Given the description of an element on the screen output the (x, y) to click on. 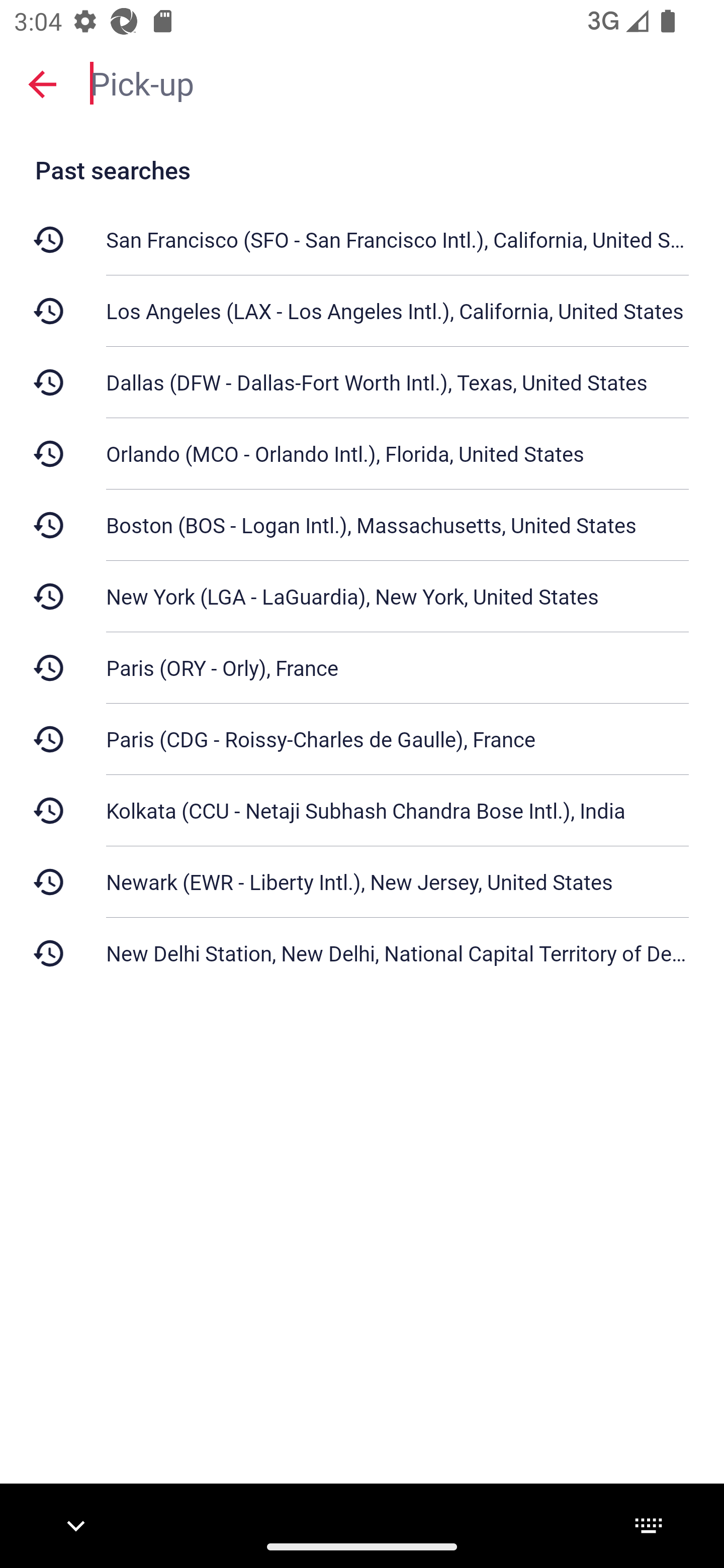
Pick-up,  (397, 82)
Close search screen (41, 83)
